Given the description of an element on the screen output the (x, y) to click on. 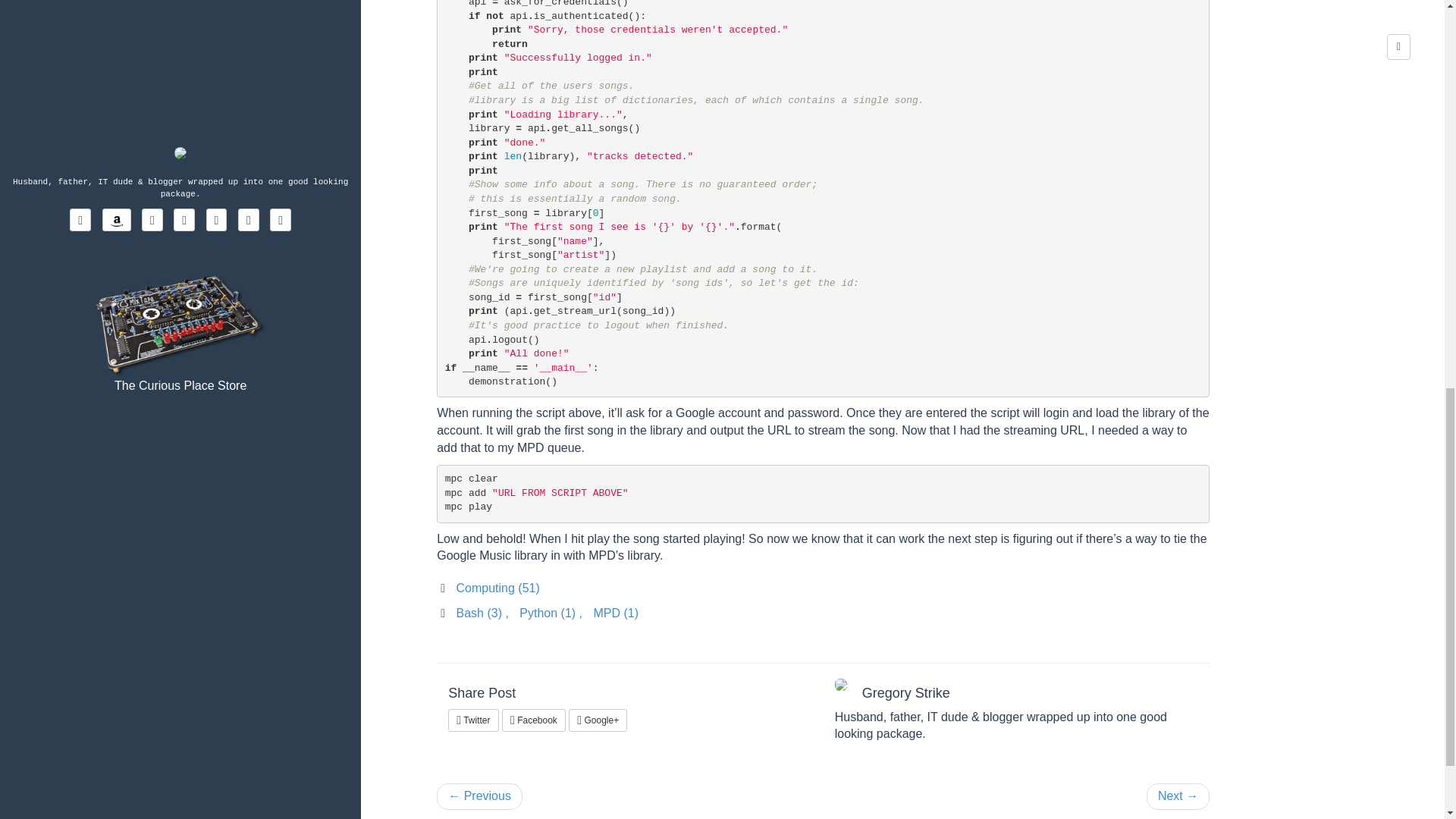
Twitter (472, 720)
Facebook (534, 720)
